Given the description of an element on the screen output the (x, y) to click on. 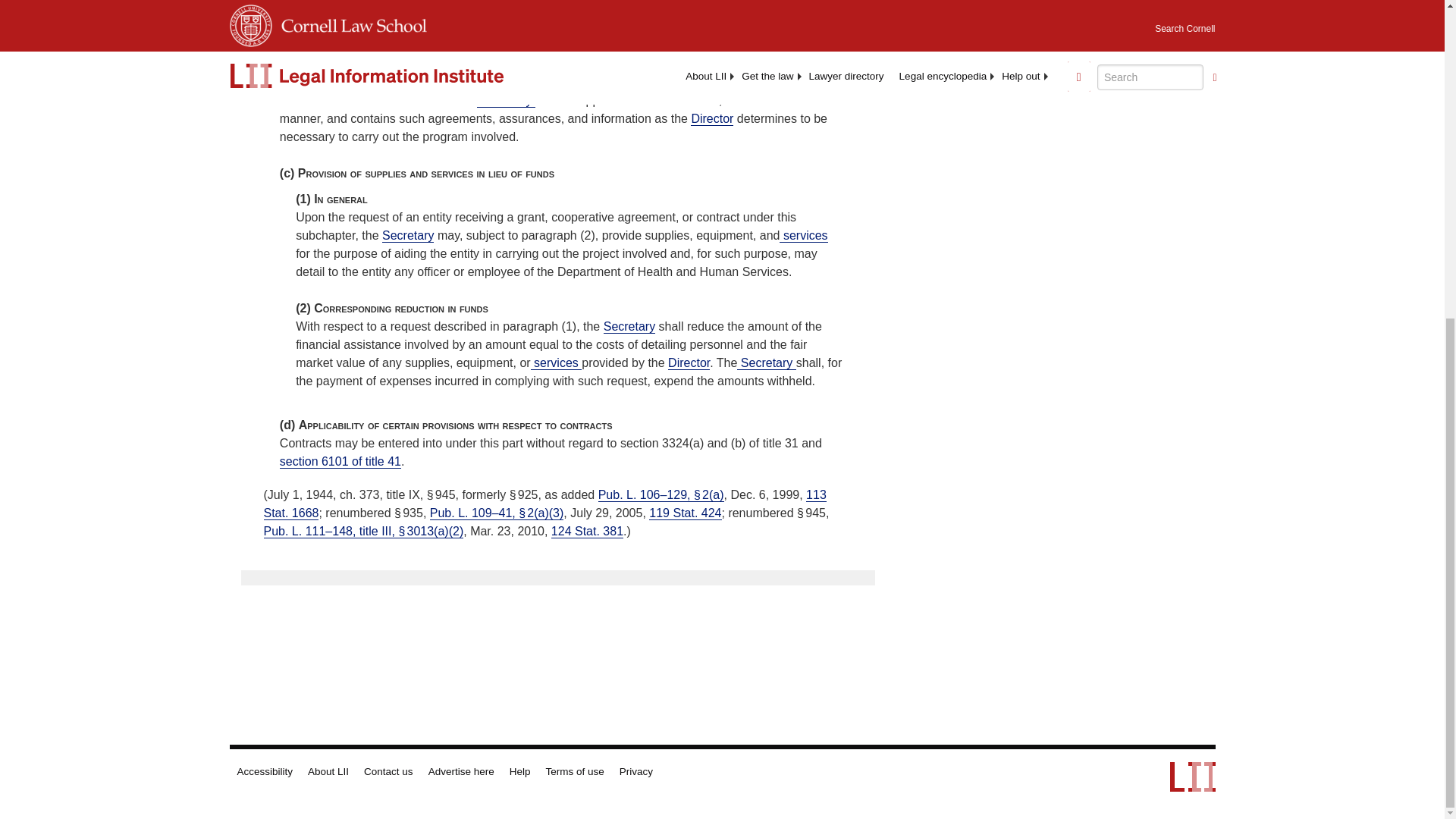
3rd party ad content (1025, 20)
